Given the description of an element on the screen output the (x, y) to click on. 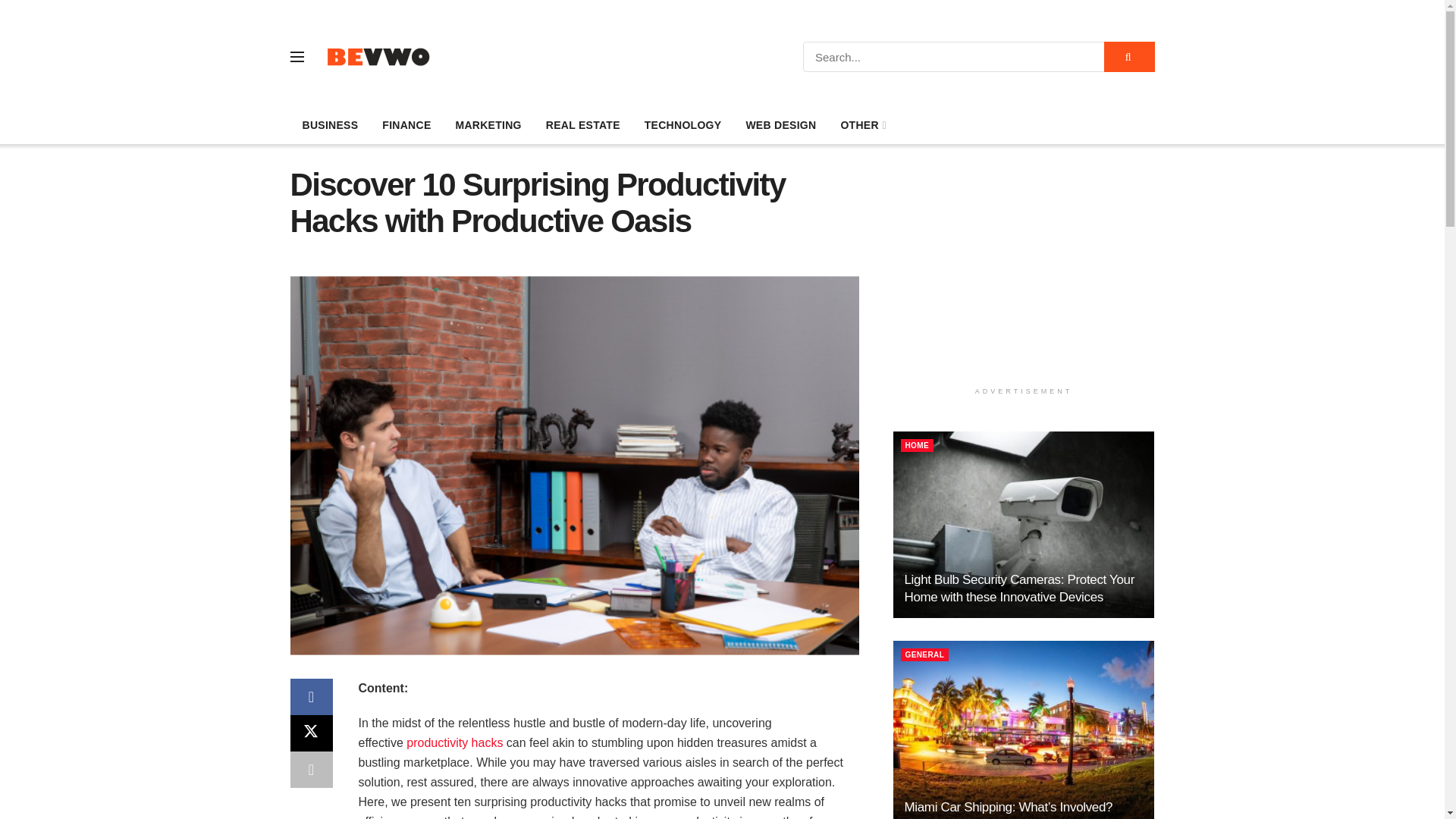
MARKETING (487, 125)
TECHNOLOGY (682, 125)
FINANCE (405, 125)
OTHER (862, 125)
Advertisement (1023, 273)
REAL ESTATE (582, 125)
BUSINESS (329, 125)
WEB DESIGN (780, 125)
